Given the description of an element on the screen output the (x, y) to click on. 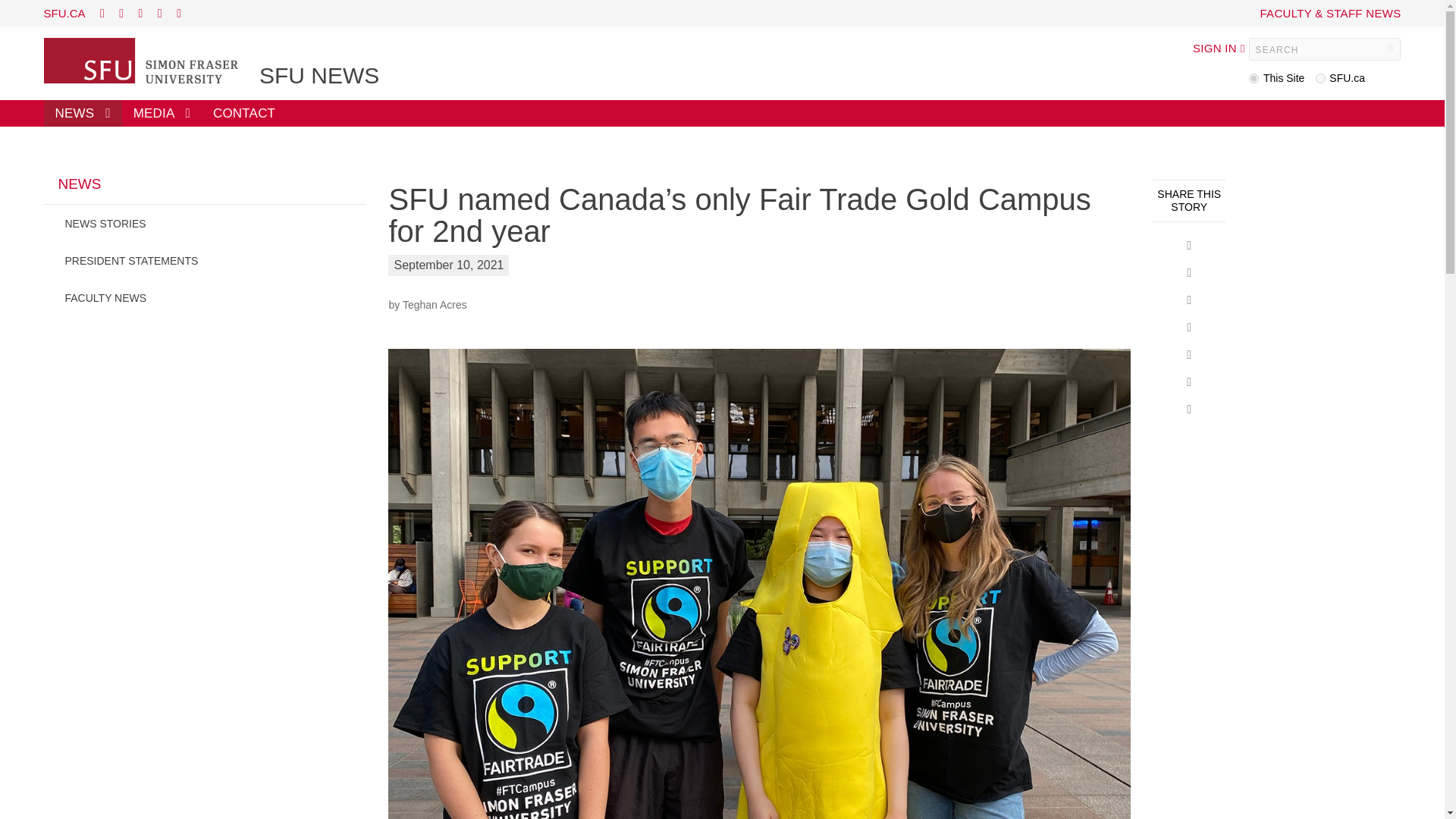
NEWS (82, 112)
sfu (1320, 78)
SFU.CA (64, 11)
site (1254, 78)
CONTACT (244, 112)
SFU NEWS (318, 75)
PRESIDENT STATEMENTS (204, 260)
MEDIA (162, 112)
NEWS (204, 190)
FACULTY NEWS (204, 297)
